Given the description of an element on the screen output the (x, y) to click on. 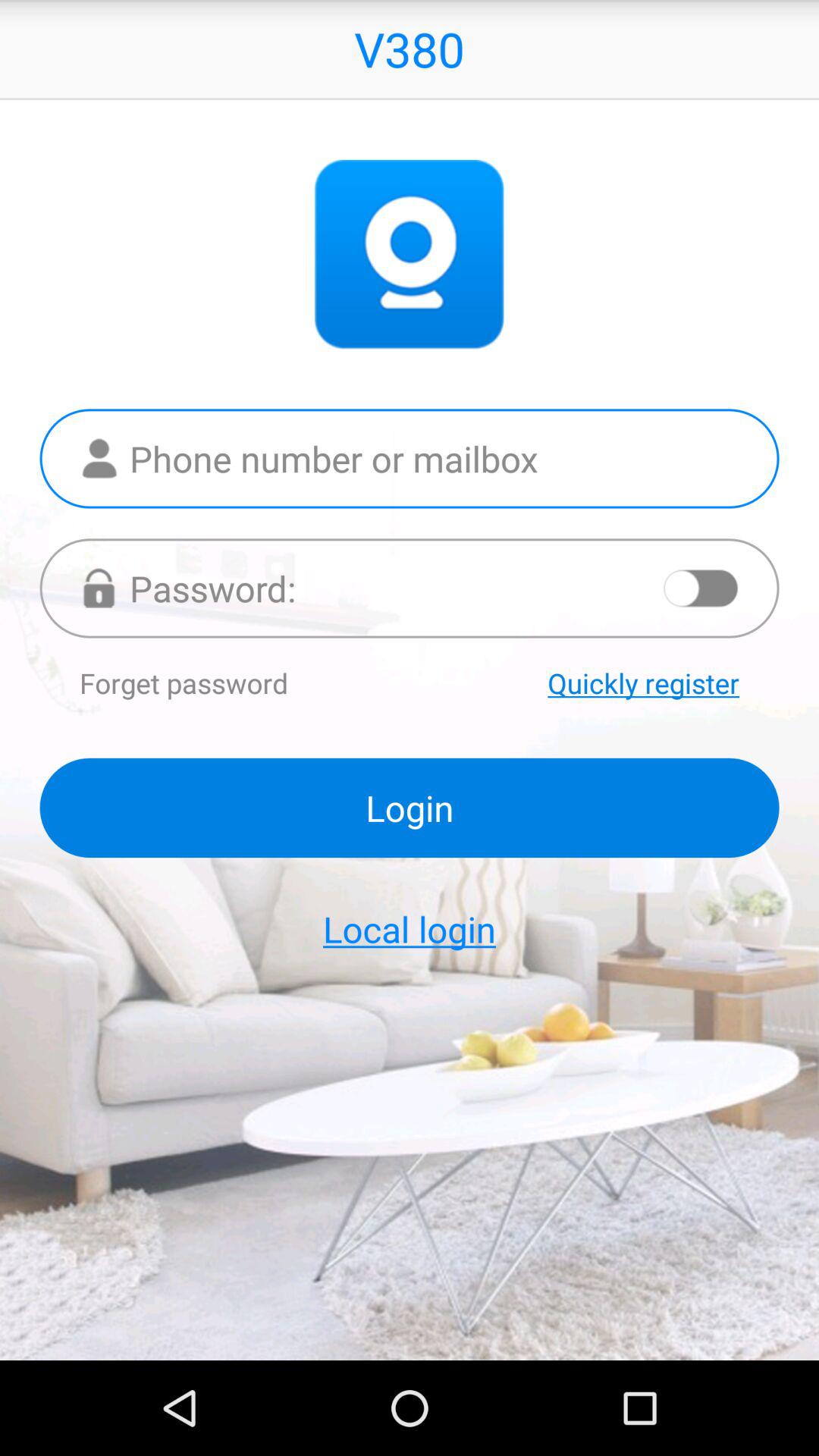
menu (701, 587)
